Given the description of an element on the screen output the (x, y) to click on. 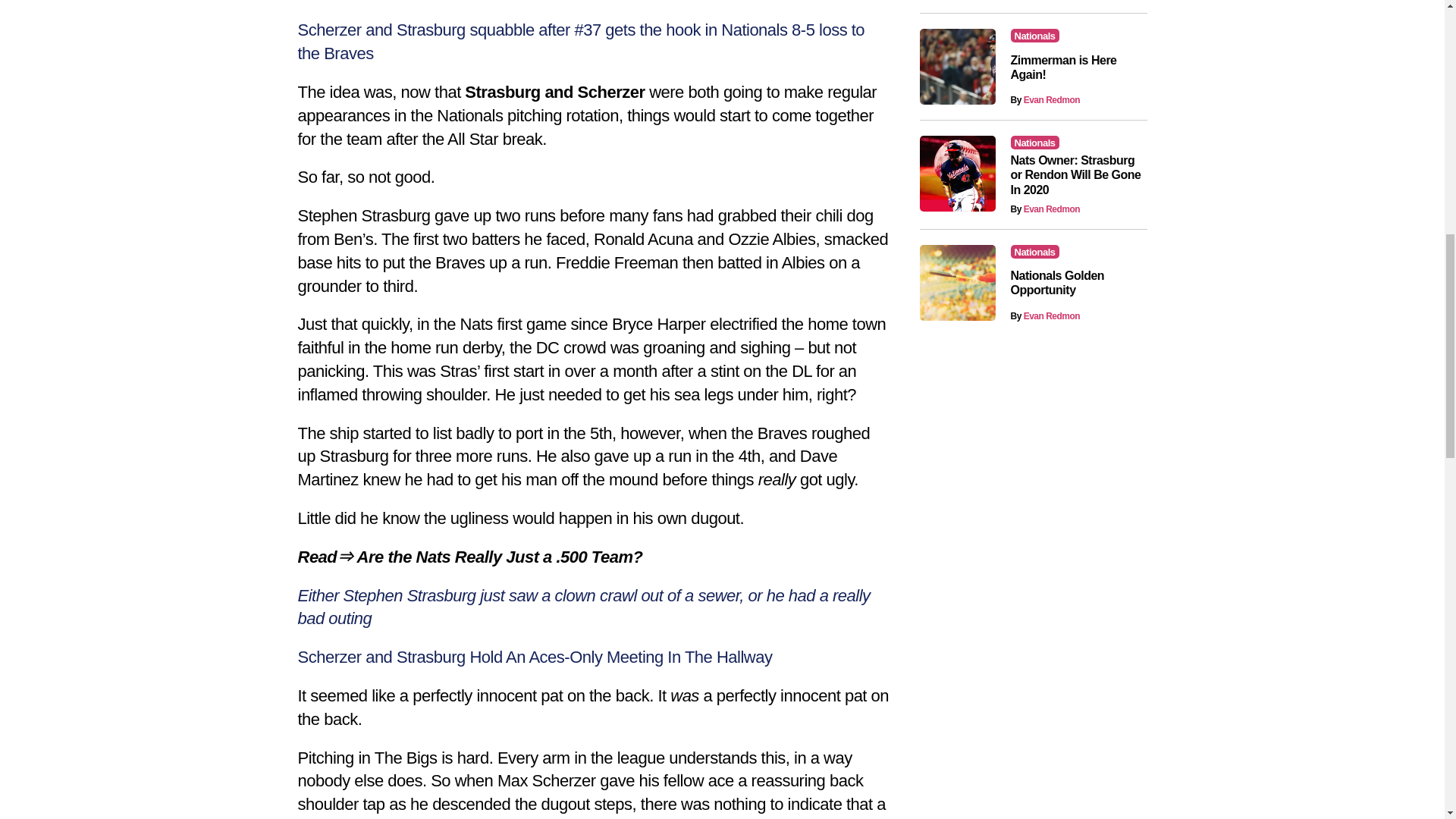
Nationals (1034, 251)
Nationals (1034, 142)
By Evan Redmon (1045, 208)
Strasburg and Scherzer (554, 91)
Nats Owner: Strasburg or Rendon Will Be Gone In 2020 (1075, 174)
Nationals (1034, 35)
Nationals Golden Opportunity (1056, 282)
By Evan Redmon (1045, 99)
By Evan Redmon (1045, 316)
Zimmerman is Here Again! (1063, 67)
